Given the description of an element on the screen output the (x, y) to click on. 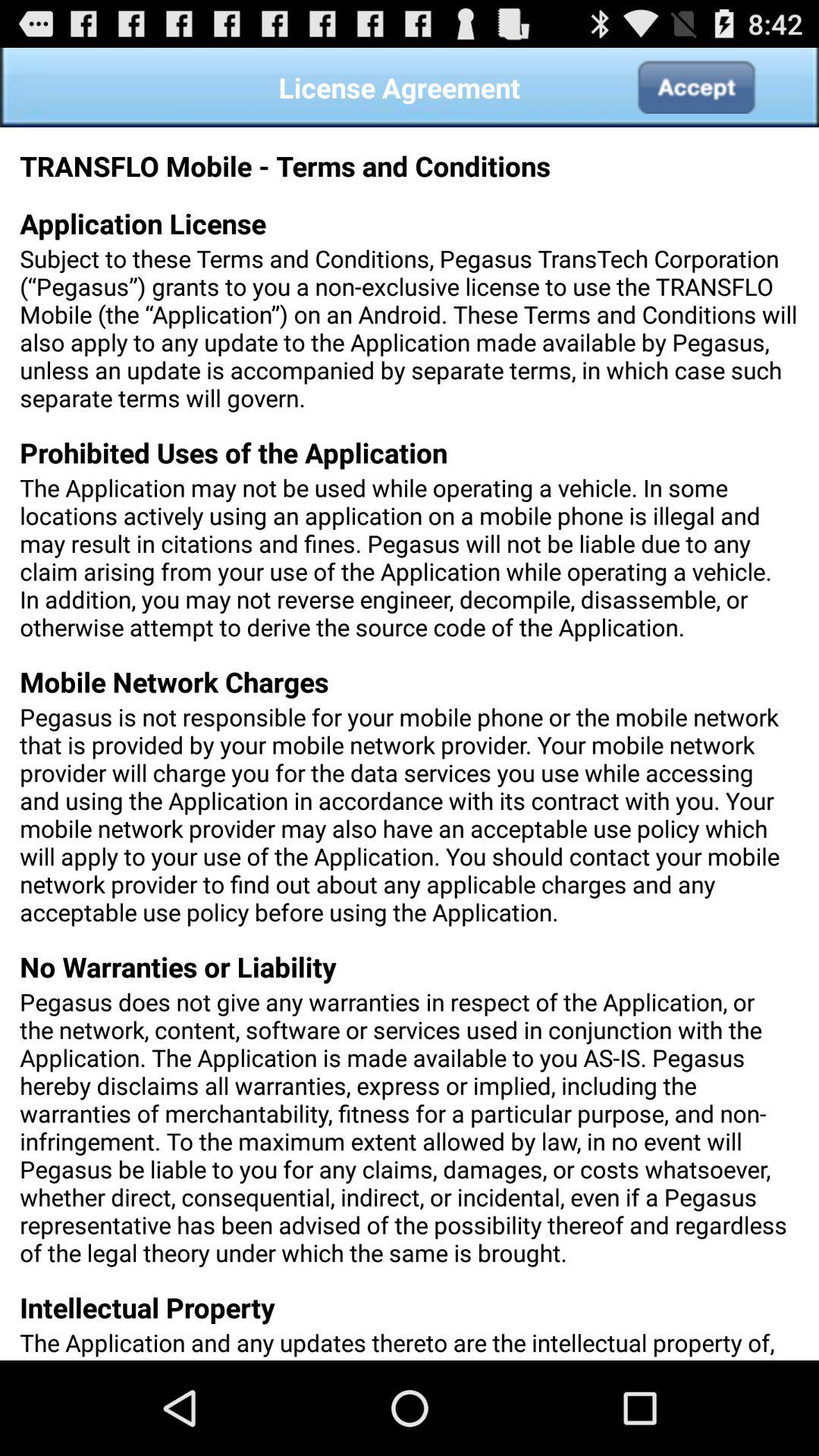
choose icon at the top right corner (695, 86)
